Given the description of an element on the screen output the (x, y) to click on. 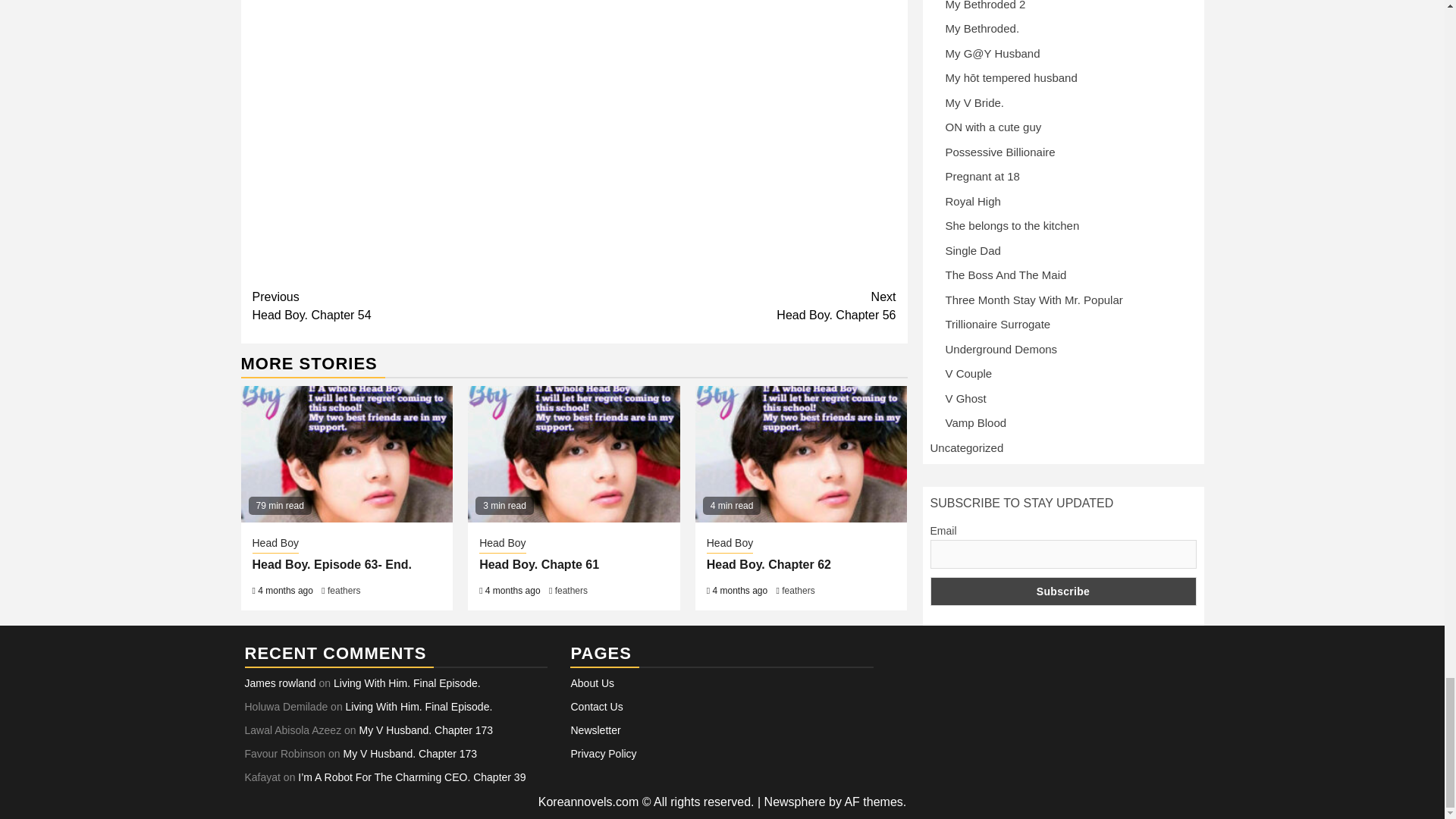
feathers (734, 306)
Head Boy. Chapter 62 (797, 590)
Head Boy (768, 563)
feathers (412, 306)
Head Boy (274, 544)
feathers (343, 590)
Head Boy. Chapte 61 (502, 544)
Head Boy. Episode 63- End. (571, 590)
